Given the description of an element on the screen output the (x, y) to click on. 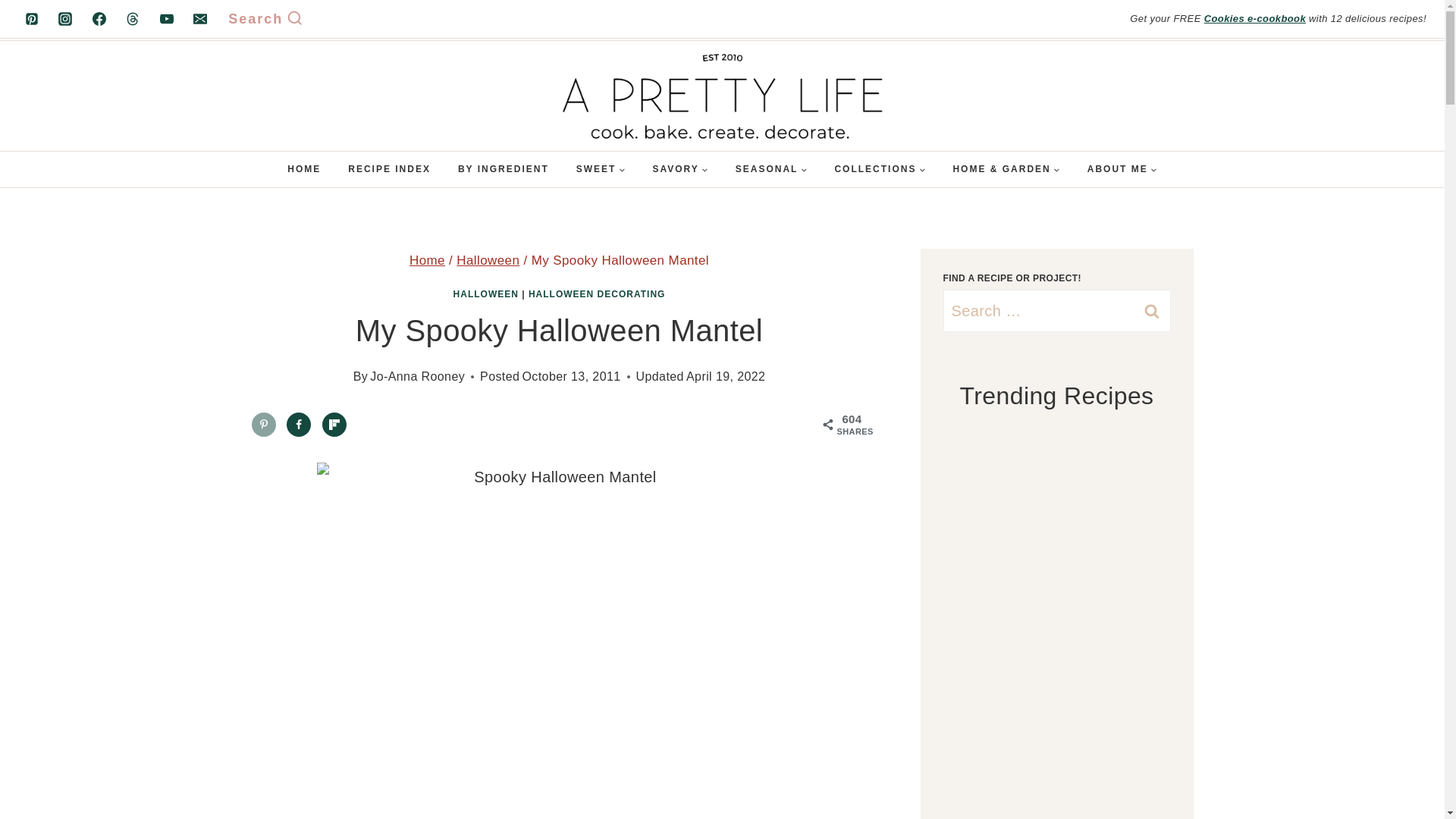
SAVORY (679, 169)
RECIPE INDEX (389, 169)
Cookies e-cookbook (1255, 18)
SWEET (600, 169)
Search (265, 18)
HOME (303, 169)
Share on Flipboard (333, 424)
Save to Pinterest (263, 424)
Share on Facebook (298, 424)
Search (1151, 310)
